Given the description of an element on the screen output the (x, y) to click on. 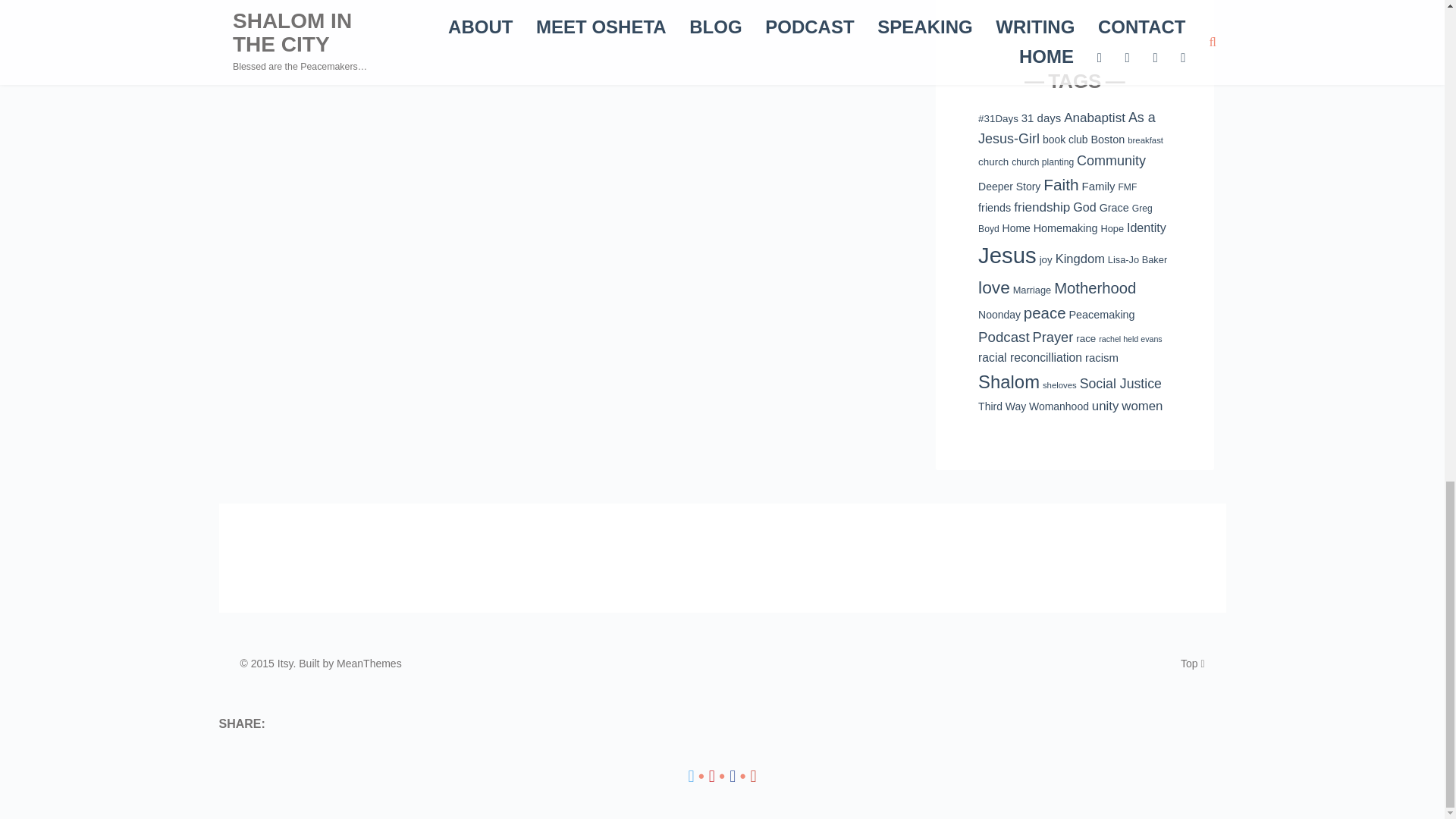
31 days (1041, 117)
Anabaptist (1094, 117)
